Given the description of an element on the screen output the (x, y) to click on. 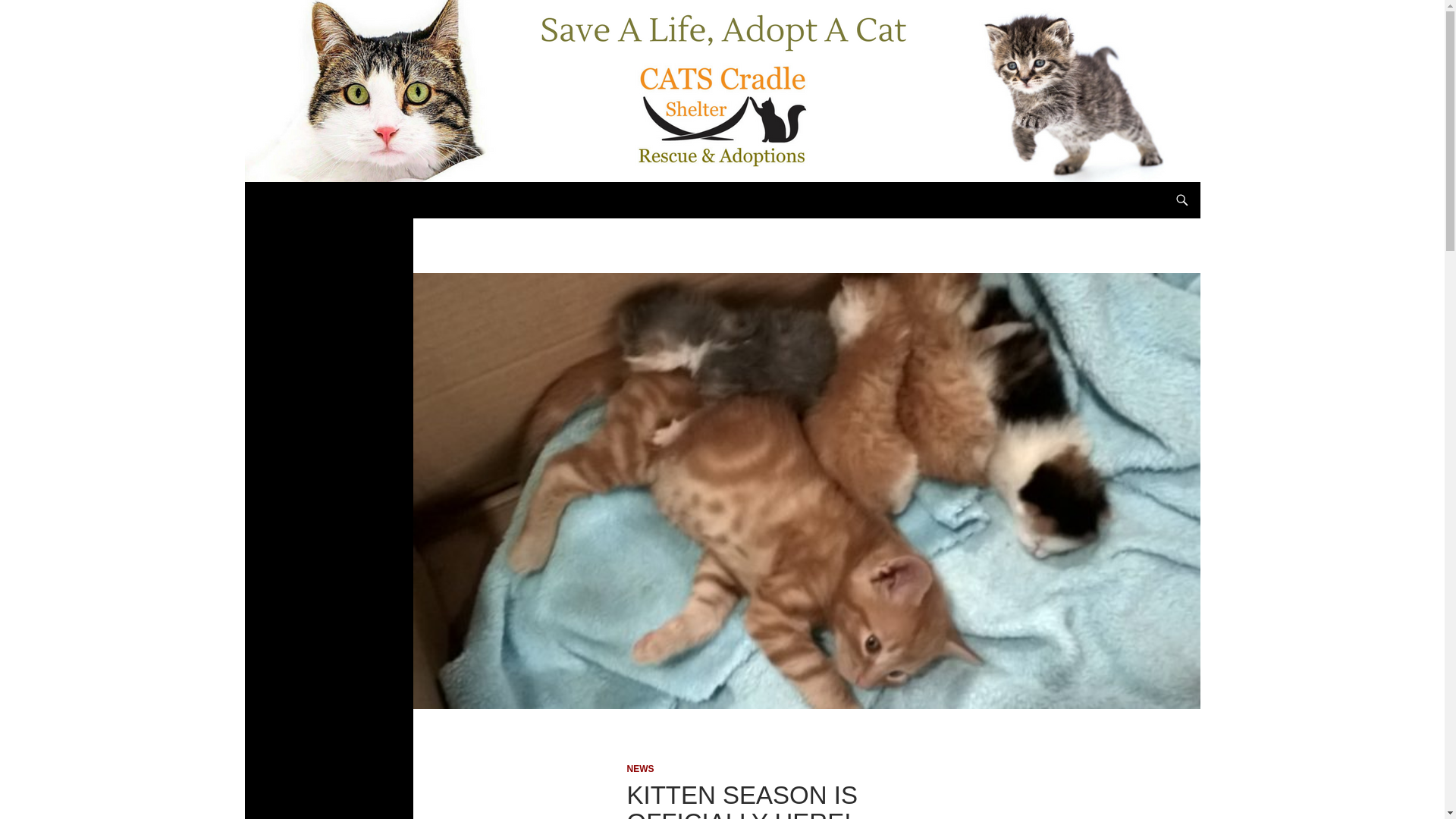
NEWS (639, 768)
